Given the description of an element on the screen output the (x, y) to click on. 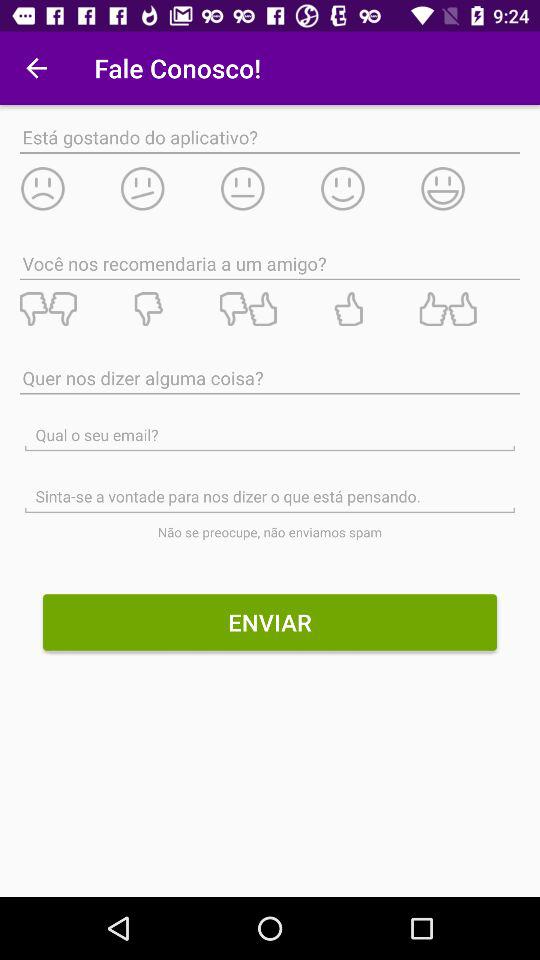
one thumbs down (169, 309)
